Given the description of an element on the screen output the (x, y) to click on. 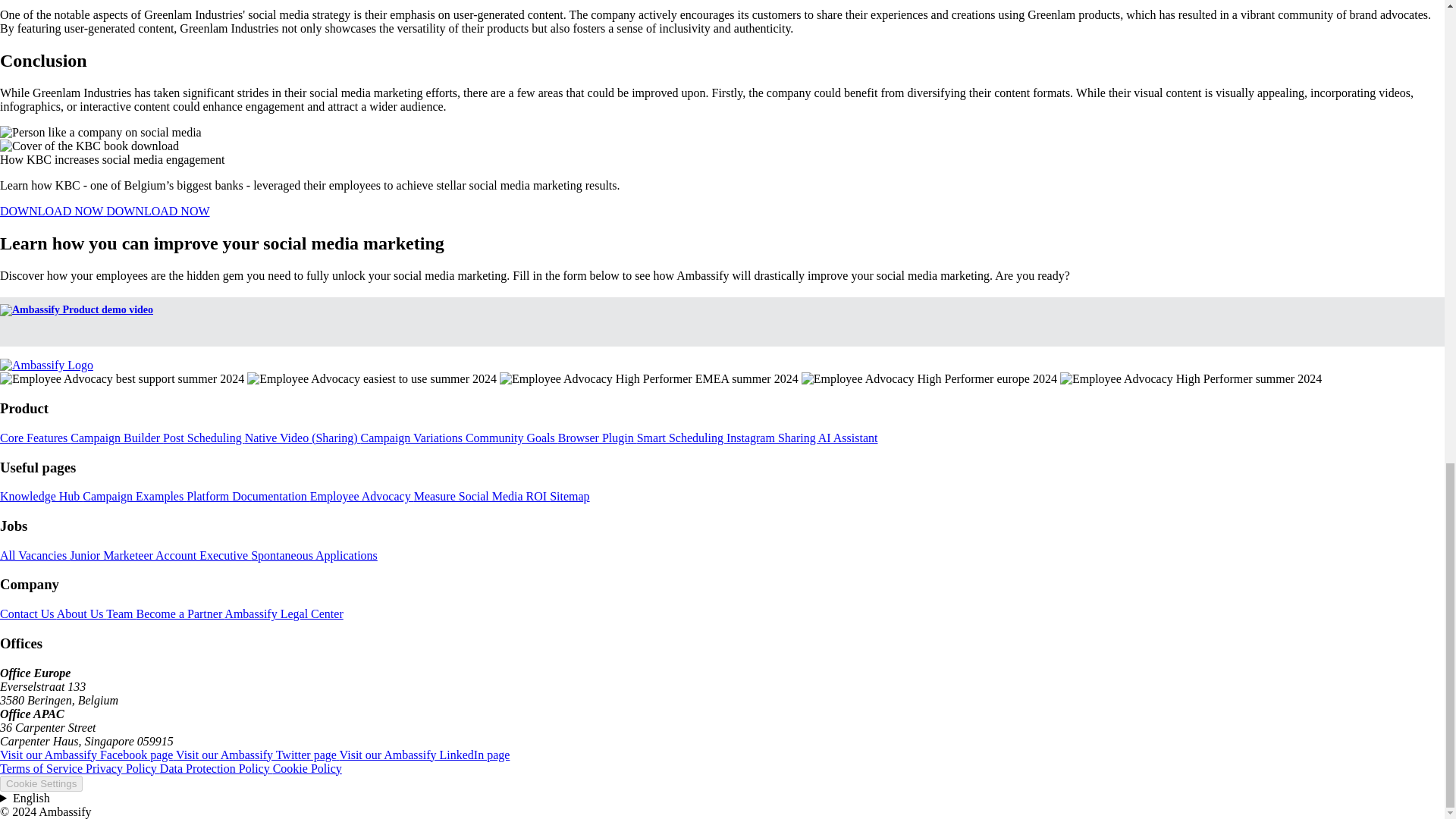
Visit our Ambassify LinkedIn page (425, 754)
Visit our Ambassify Facebook page (88, 754)
Visit our Ambassify Twitter page (257, 754)
